Given the description of an element on the screen output the (x, y) to click on. 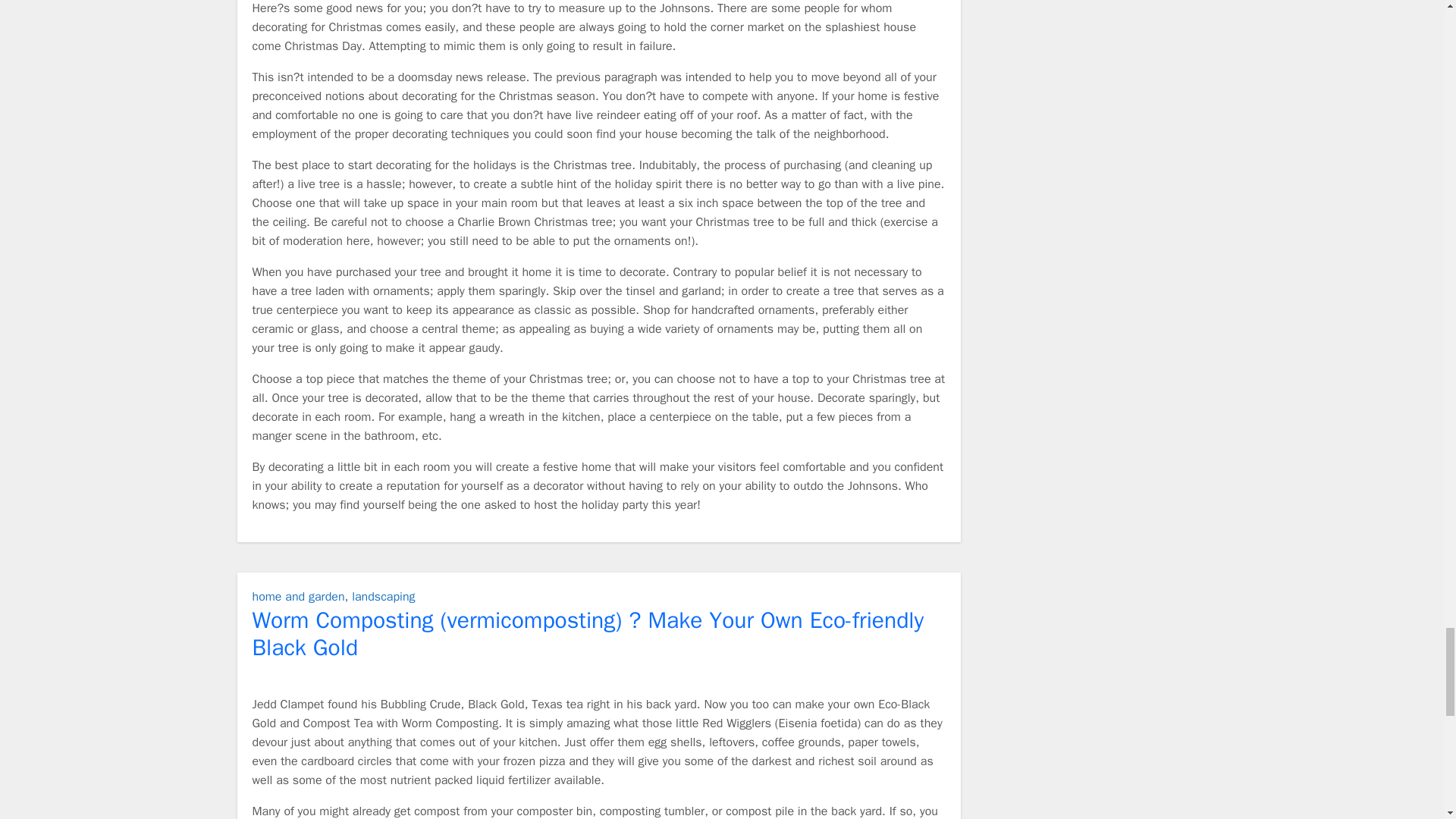
home and garden (297, 595)
landscaping (383, 595)
